Given the description of an element on the screen output the (x, y) to click on. 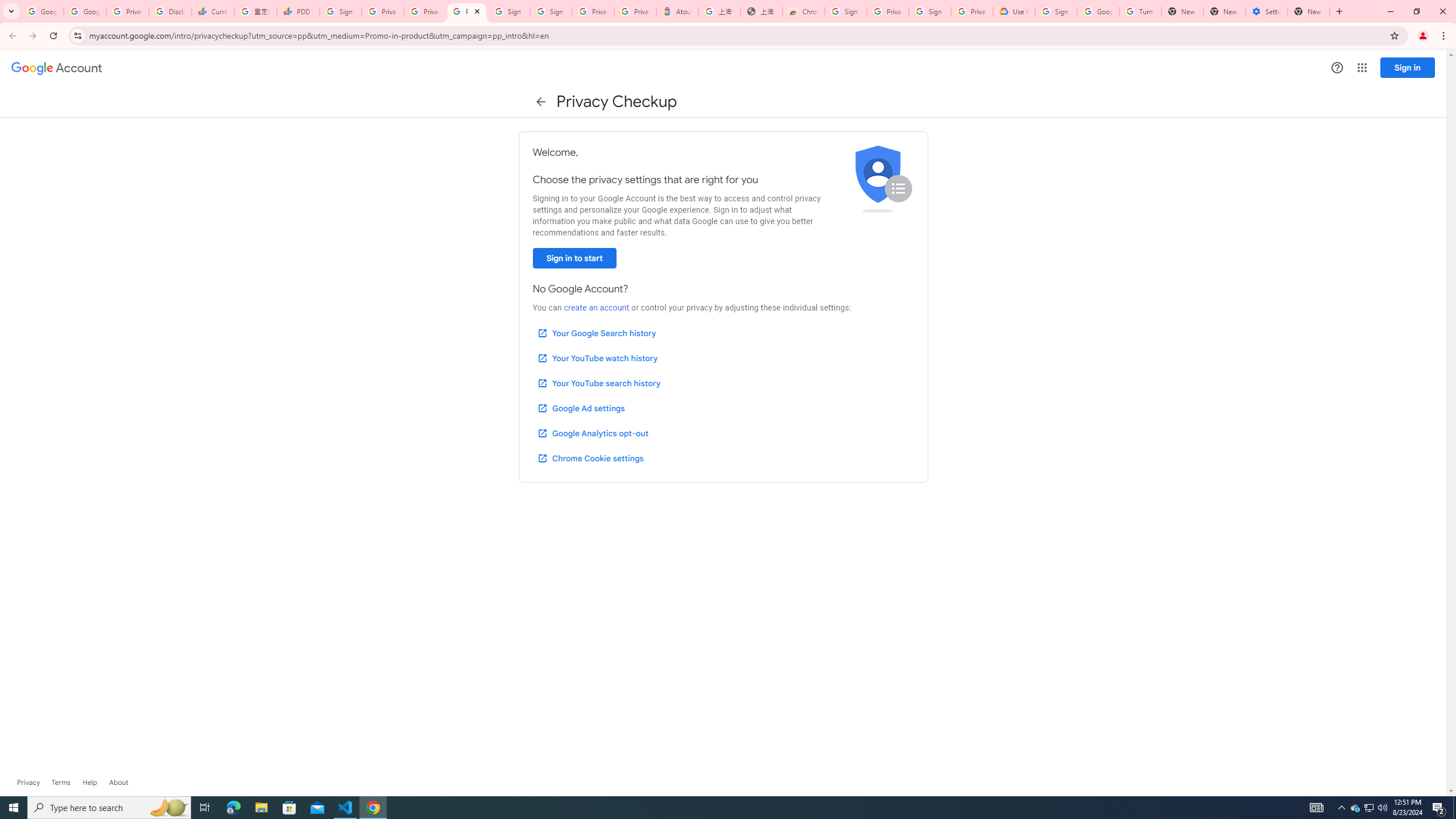
Privacy Checkup (467, 11)
Google Account Help (1097, 11)
create an account (595, 307)
Sign in - Google Accounts (550, 11)
